Given the description of an element on the screen output the (x, y) to click on. 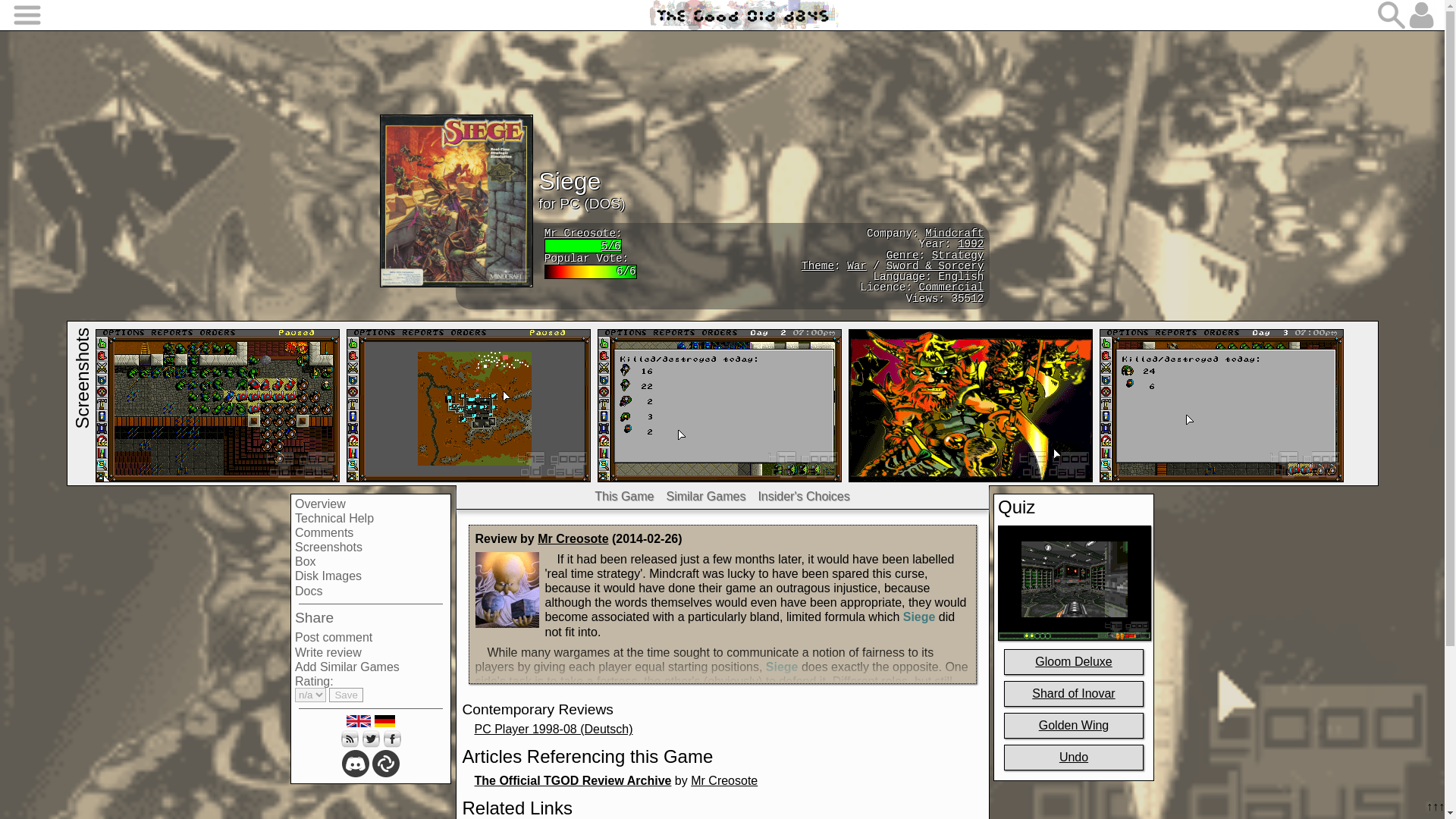
Commercial (951, 287)
War (856, 265)
Discord (355, 763)
Save (345, 694)
Mr Creosote (572, 538)
Twitter (370, 738)
1992 (971, 244)
Theme (818, 265)
Mr Creosote (579, 233)
? (818, 265)
